Given the description of an element on the screen output the (x, y) to click on. 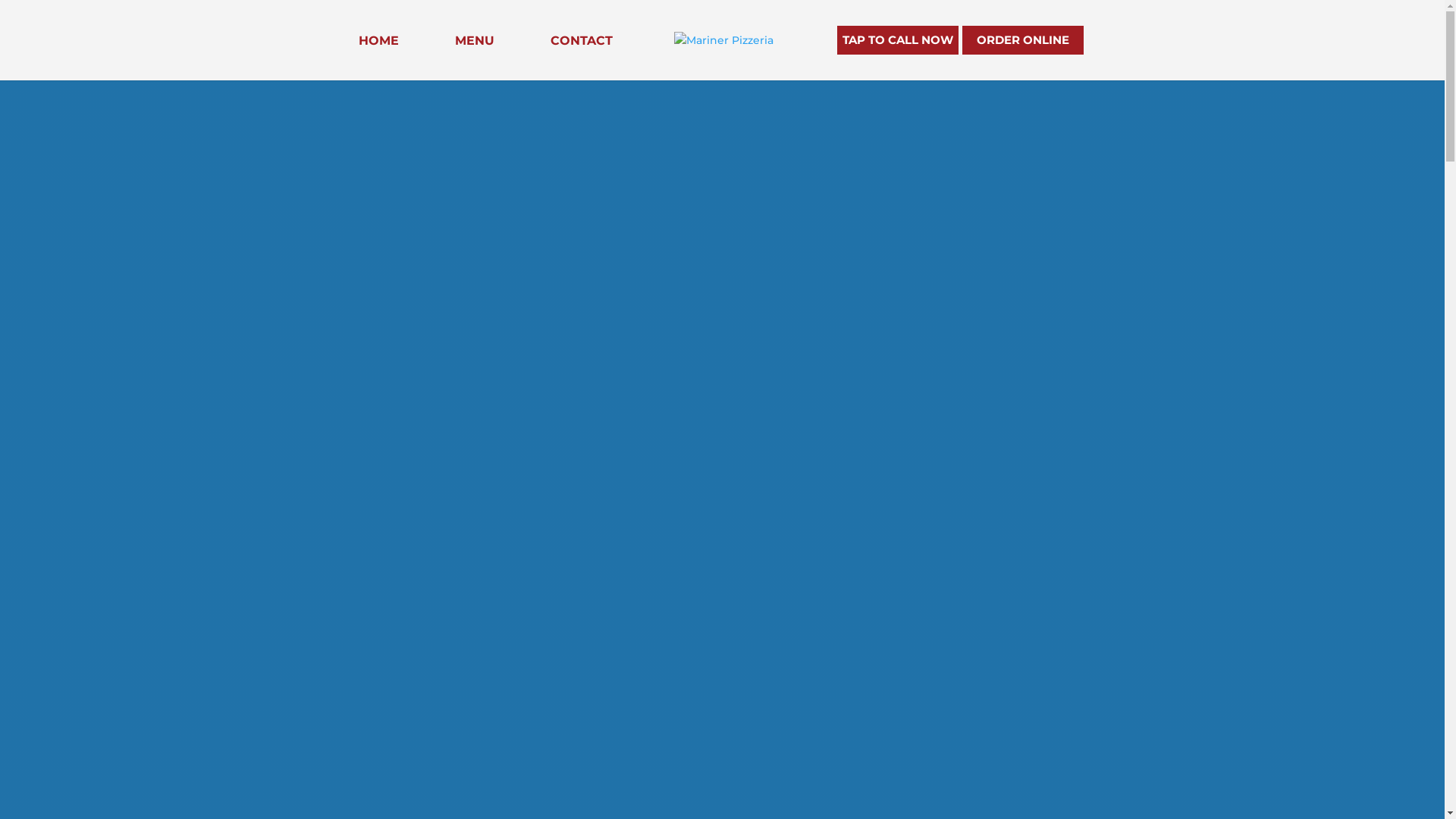
ORDER ONLINE Element type: text (1021, 39)
TAP TO CALL NOW Element type: text (897, 39)
MENU Element type: text (474, 57)
CONTACT Element type: text (581, 57)
HOME Element type: text (377, 57)
